Given the description of an element on the screen output the (x, y) to click on. 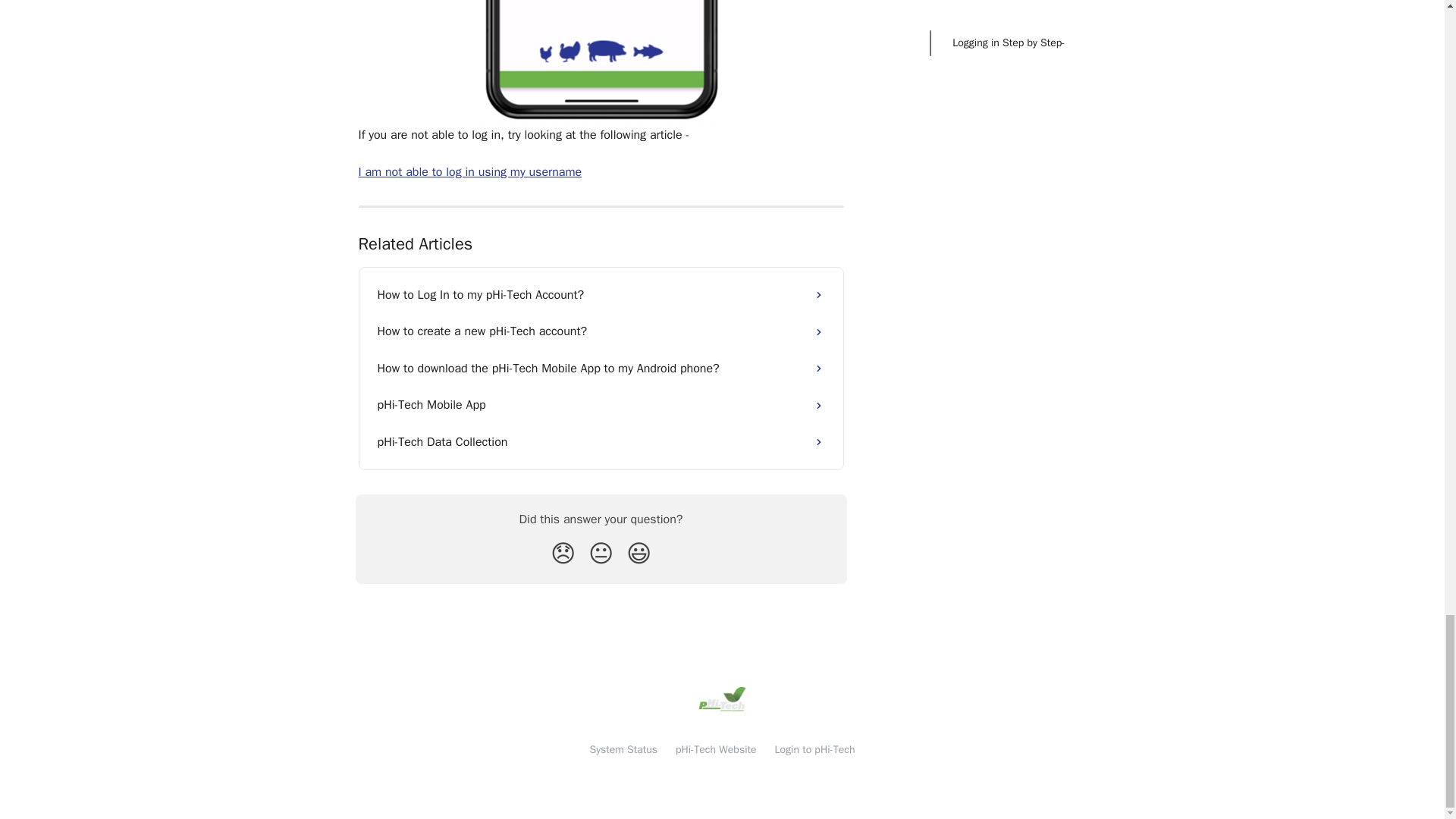
Disappointed (562, 553)
Smiley (638, 553)
How to Log In to my pHi-Tech Account? (601, 294)
I am not able to log in using my username (469, 171)
pHi-Tech Mobile App (601, 404)
pHi-Tech Website (716, 748)
pHi-Tech Data Collection (601, 442)
Neutral (600, 553)
Login to pHi-Tech (815, 748)
How to download the pHi-Tech Mobile App to my Android phone? (601, 368)
System Status (623, 748)
How to create a new pHi-Tech account? (601, 330)
